Given the description of an element on the screen output the (x, y) to click on. 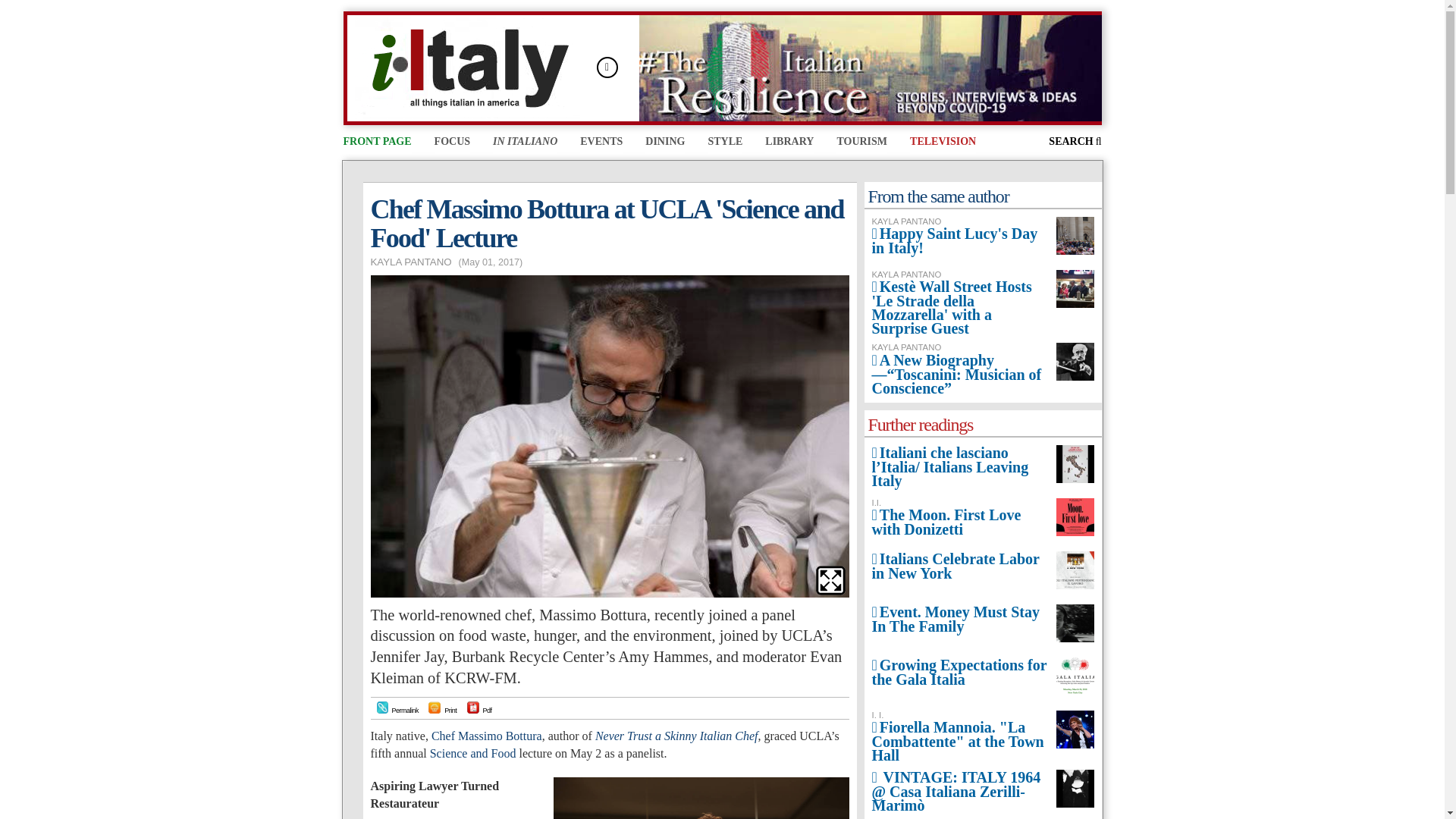
Skip to main content (691, 12)
FOCUS (451, 142)
EVENTS (601, 142)
IN ITALIANO (525, 142)
FRONT PAGE (376, 142)
